Given the description of an element on the screen output the (x, y) to click on. 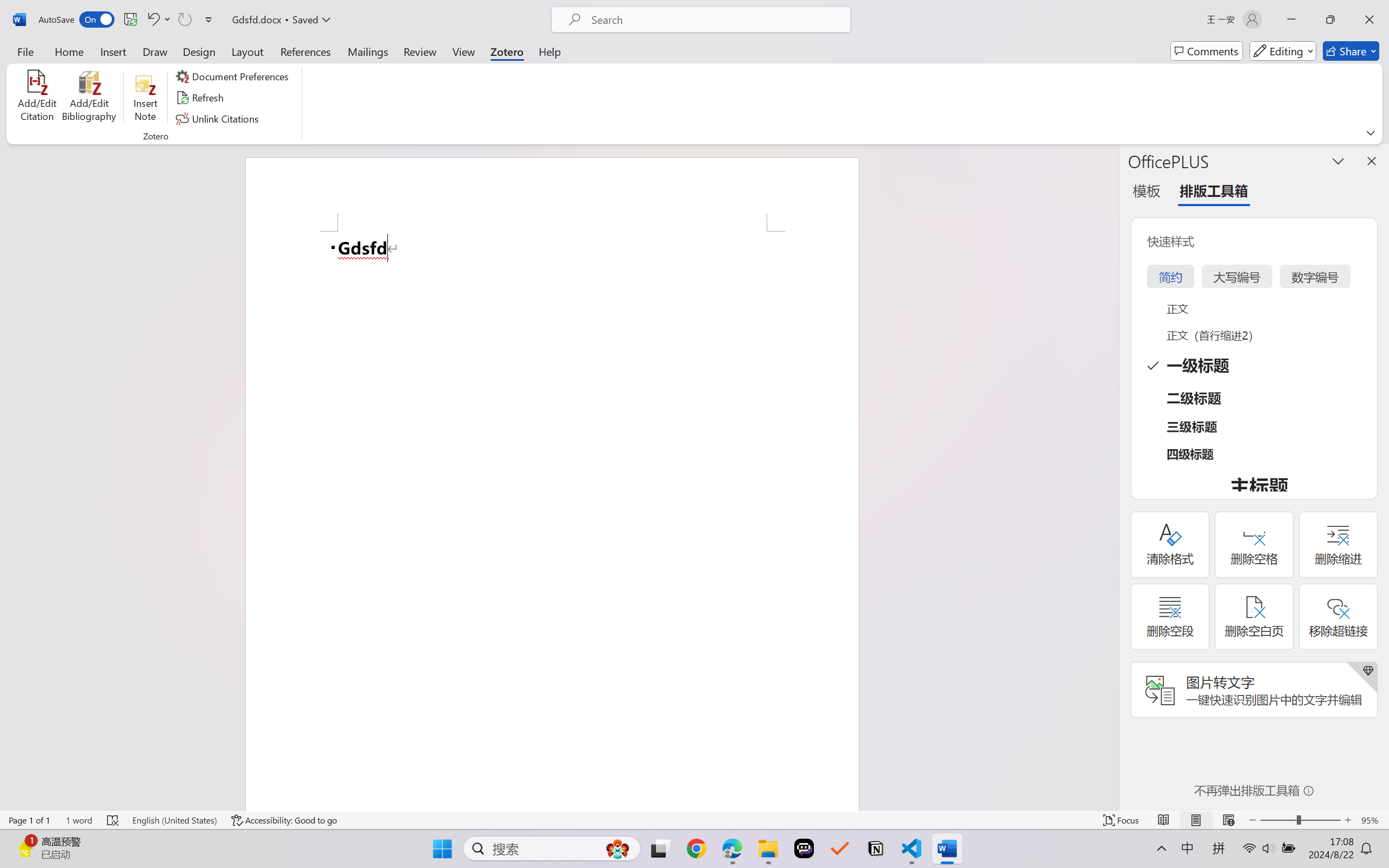
Can't Repeat (184, 19)
Class: MsoCommandBar (694, 819)
